Given the description of an element on the screen output the (x, y) to click on. 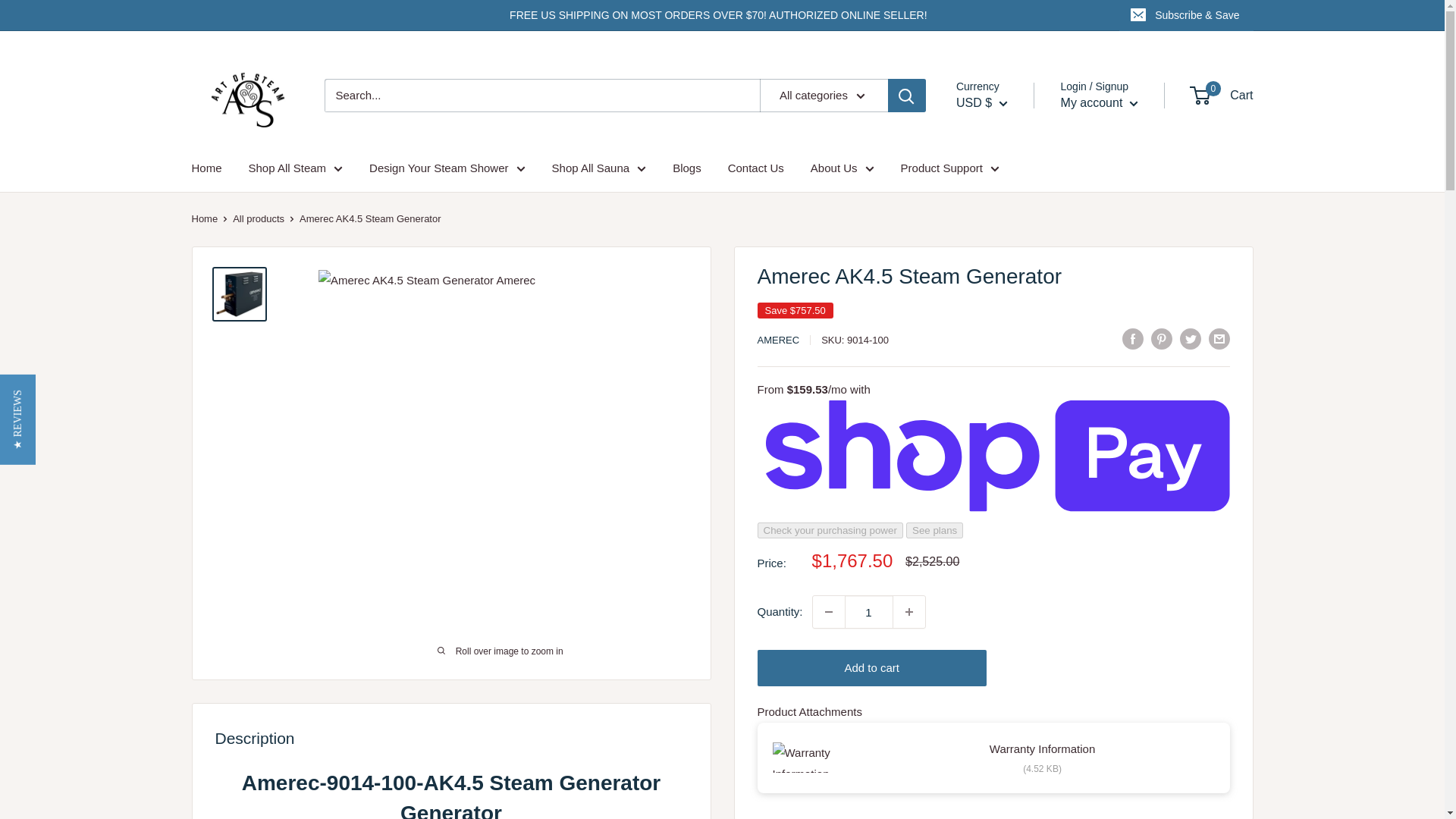
Increase quantity by 1 (908, 612)
1 (868, 612)
Decrease quantity by 1 (828, 612)
